Given the description of an element on the screen output the (x, y) to click on. 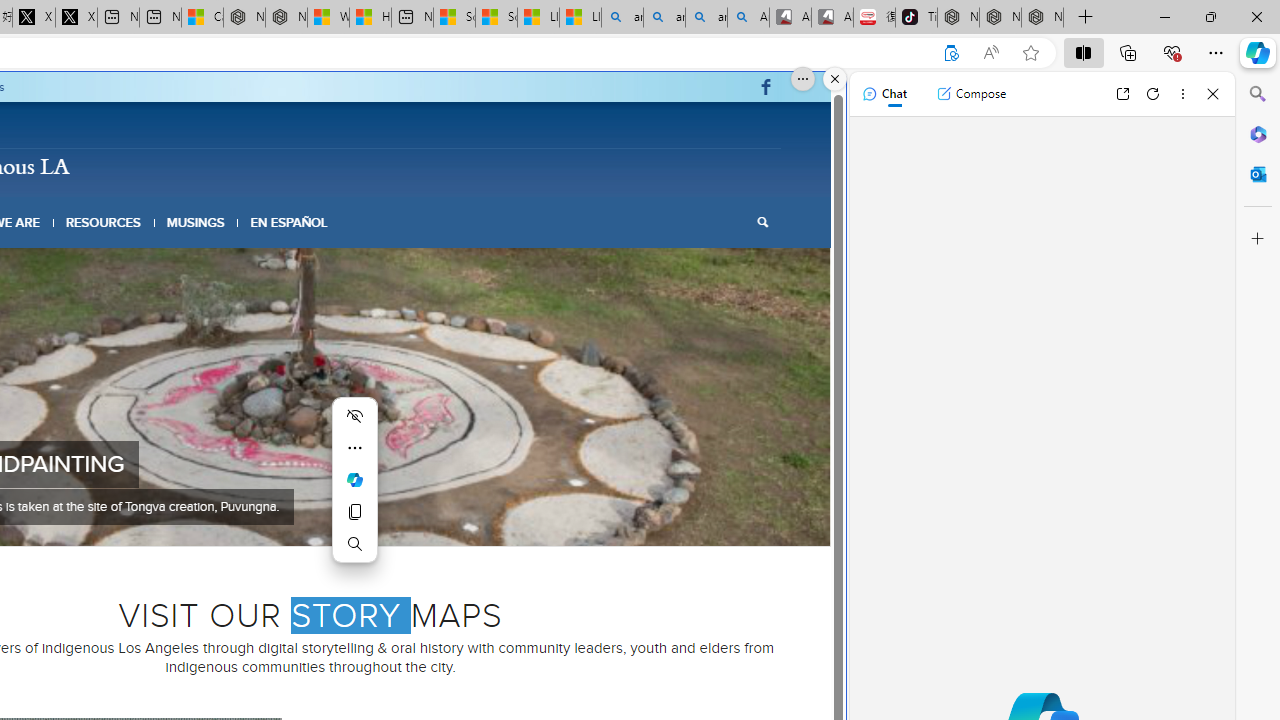
Add this page to favorites (Ctrl+D) (1030, 53)
Restore (1210, 16)
Collections (1128, 52)
Open link in new tab (1122, 93)
Microsoft 365 (1258, 133)
Close (1213, 93)
Mini menu on text selection (354, 480)
Wildlife - MSN (328, 17)
Link to Facebook (765, 87)
7 (350, 520)
TikTok (916, 17)
1 (254, 520)
Copilot (Ctrl+Shift+.) (1258, 52)
MUSINGS (195, 222)
